Given the description of an element on the screen output the (x, y) to click on. 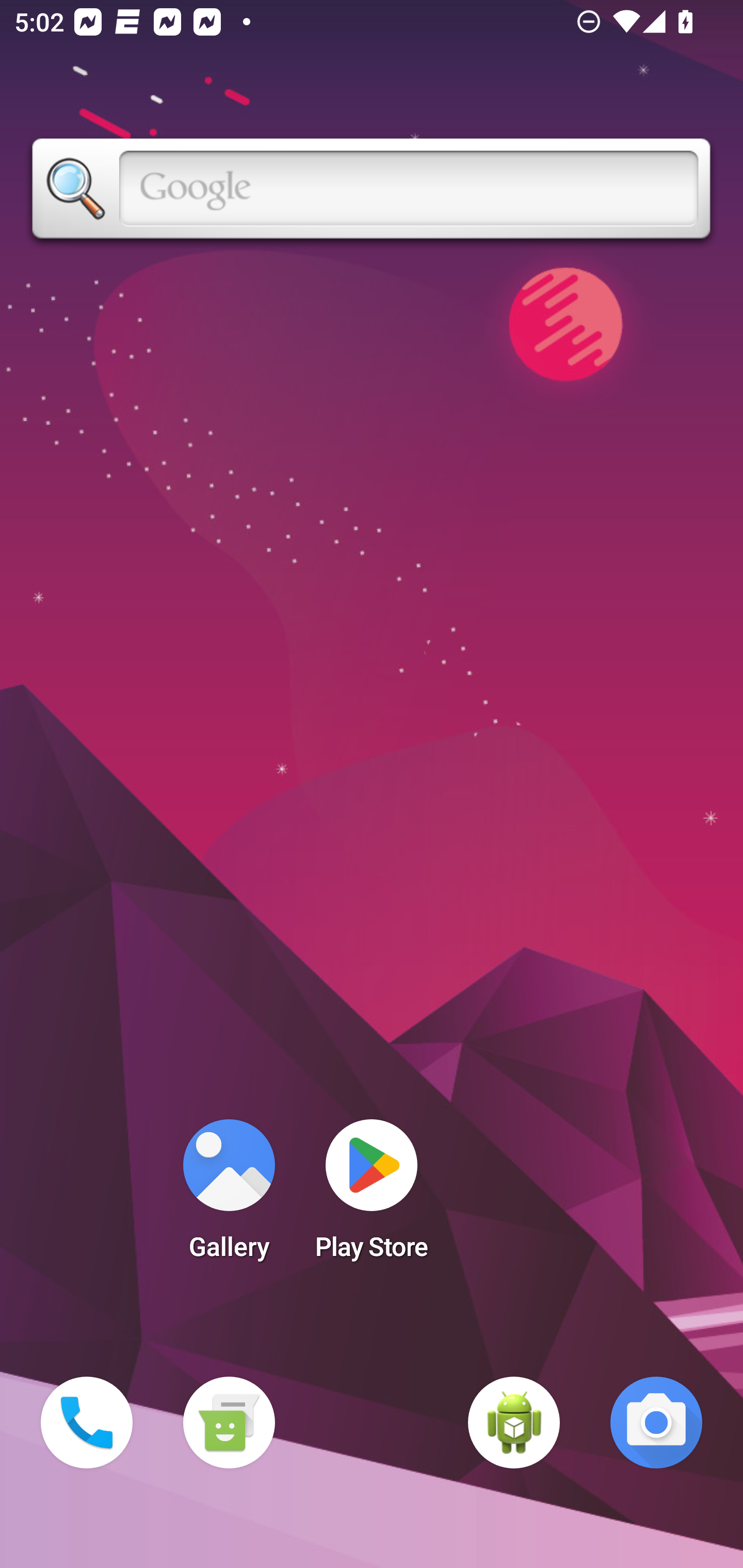
Gallery (228, 1195)
Play Store (371, 1195)
Phone (86, 1422)
Messaging (228, 1422)
WebView Browser Tester (513, 1422)
Camera (656, 1422)
